Given the description of an element on the screen output the (x, y) to click on. 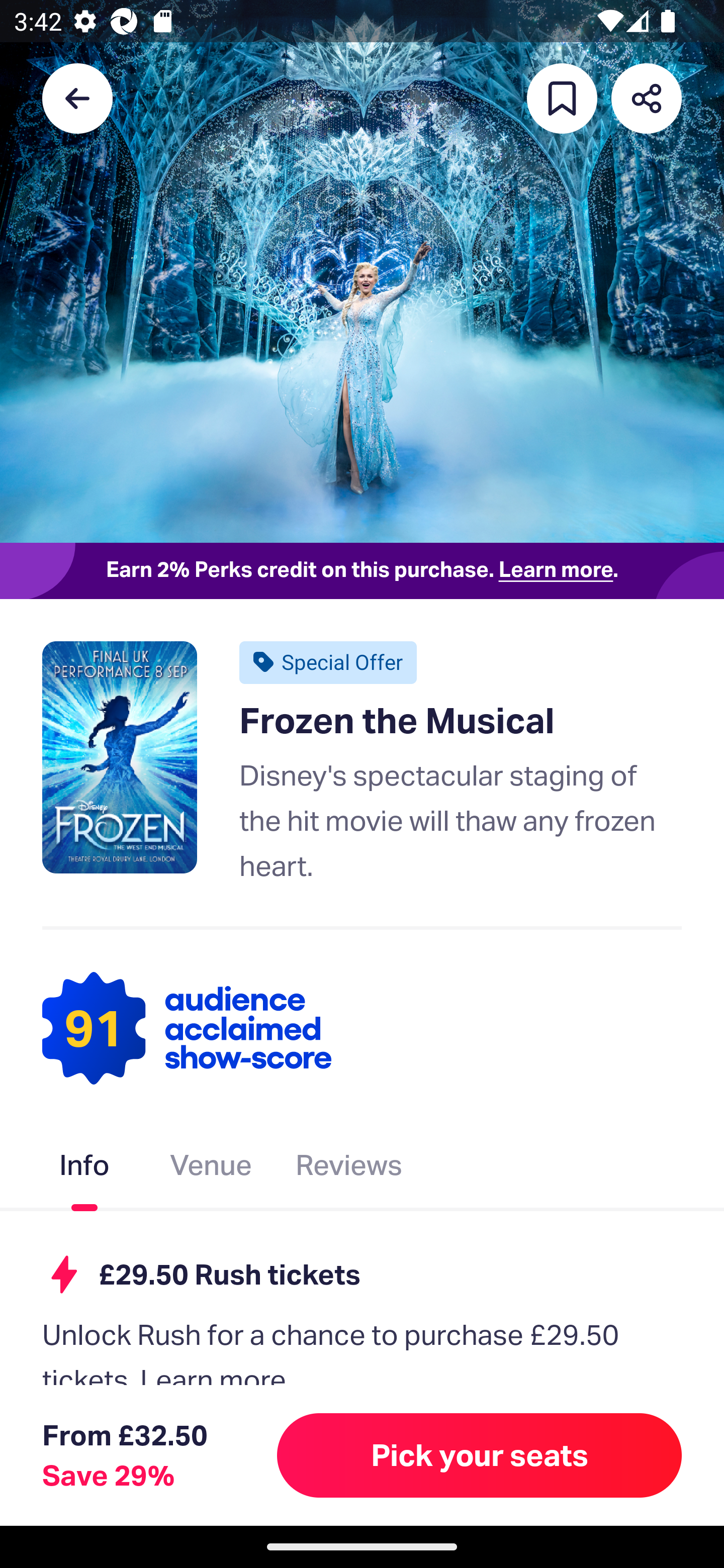
Earn 2% Perks credit on this purchase. Learn more. (362, 570)
Venue (210, 1168)
Reviews (348, 1168)
Pick your seats (479, 1454)
